Given the description of an element on the screen output the (x, y) to click on. 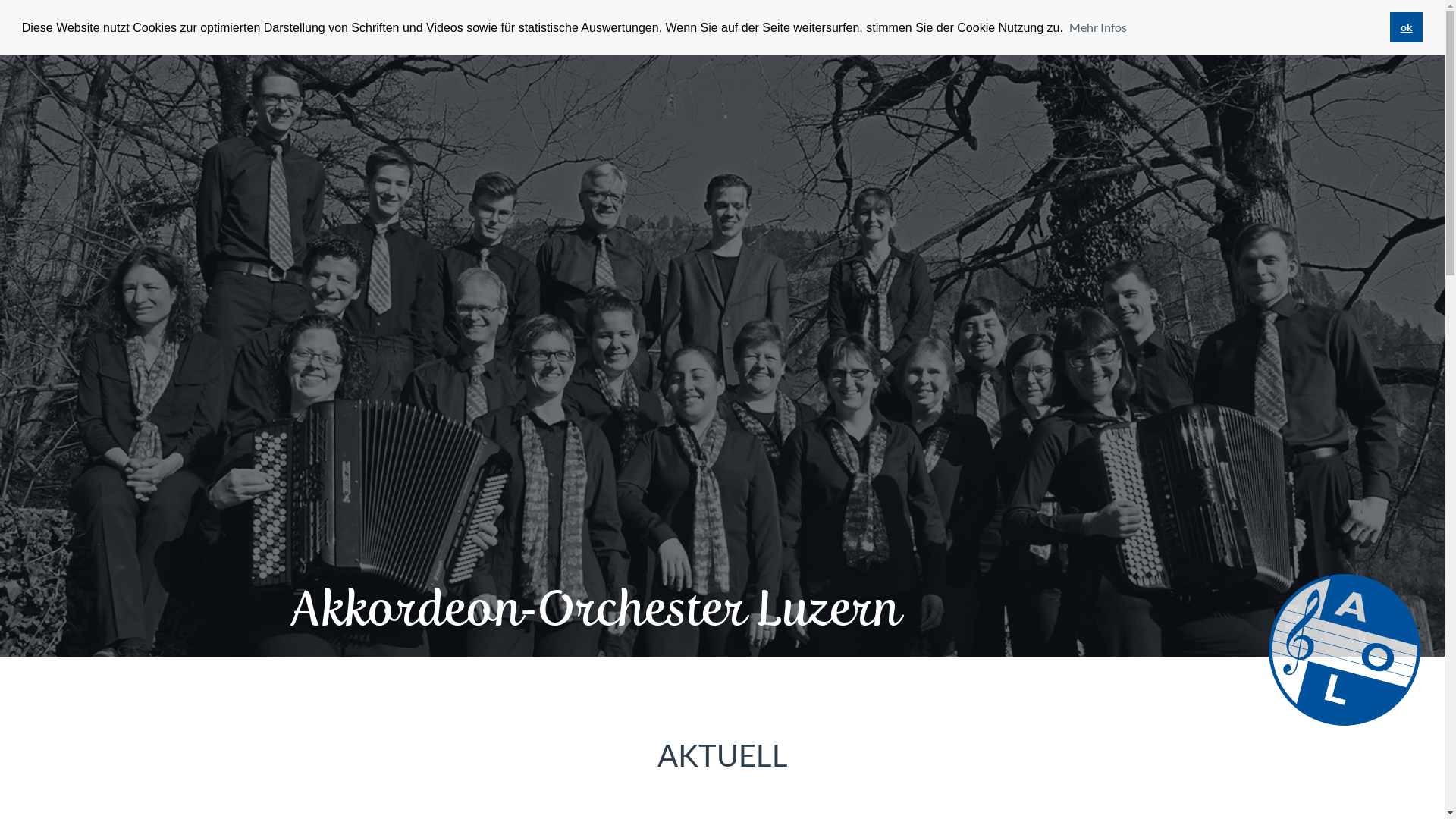
Home Element type: text (323, 21)
Orchester Element type: text (452, 21)
Kontakt Element type: text (613, 21)
ok Element type: text (1406, 27)
Mehr Infos Element type: text (1097, 26)
Konzerte Element type: text (380, 21)
